Given the description of an element on the screen output the (x, y) to click on. 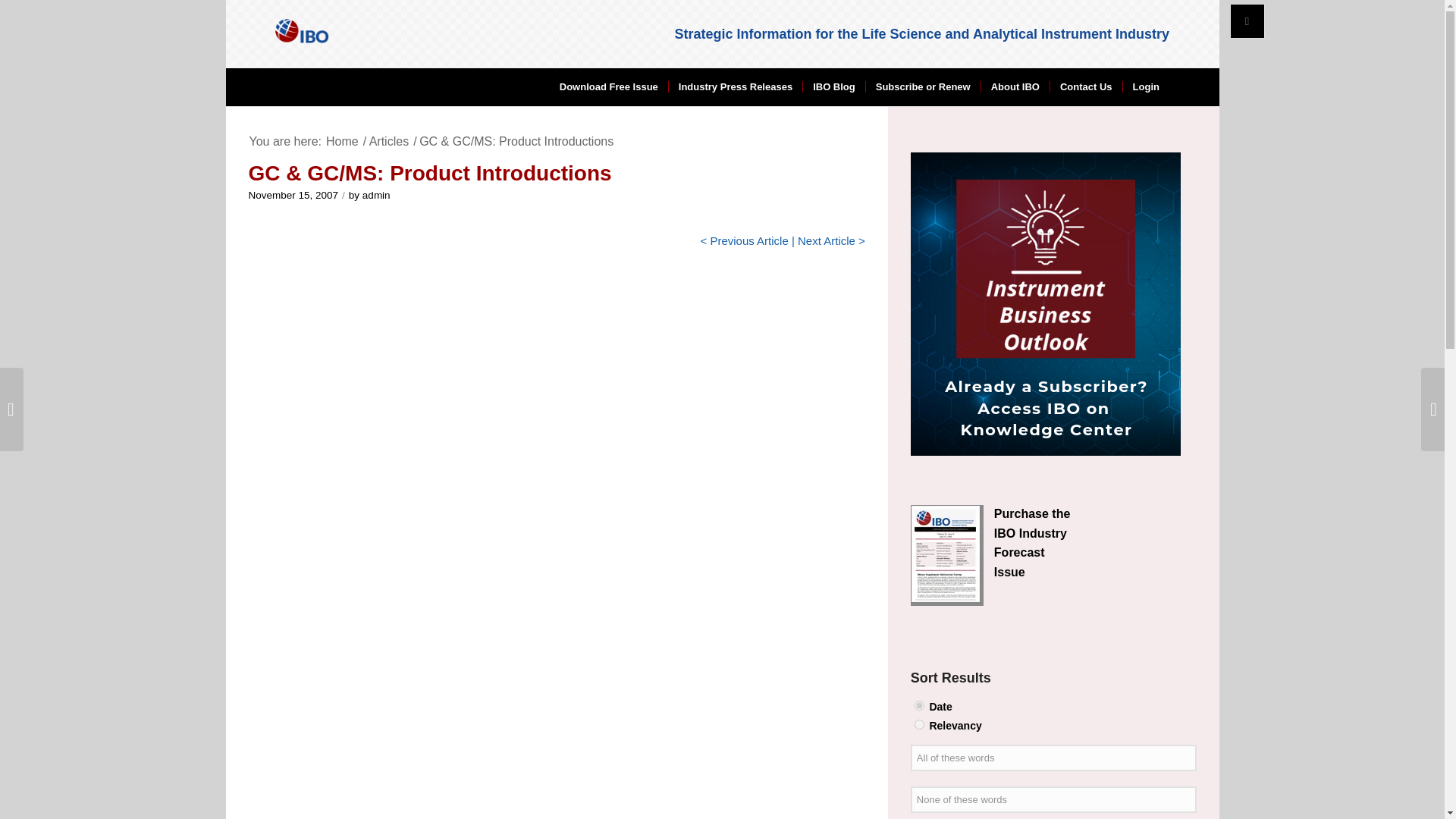
Home (342, 141)
date (919, 705)
Articles (388, 141)
date (919, 705)
Next Article (826, 240)
Industry Press Releases (735, 86)
IBO (342, 141)
relevancy (919, 724)
Previous Article (748, 240)
admin (376, 194)
Download Free Issue (609, 86)
Articles (388, 141)
IBO Blog (833, 86)
Posts by admin (376, 194)
relevancy (919, 724)
